Given the description of an element on the screen output the (x, y) to click on. 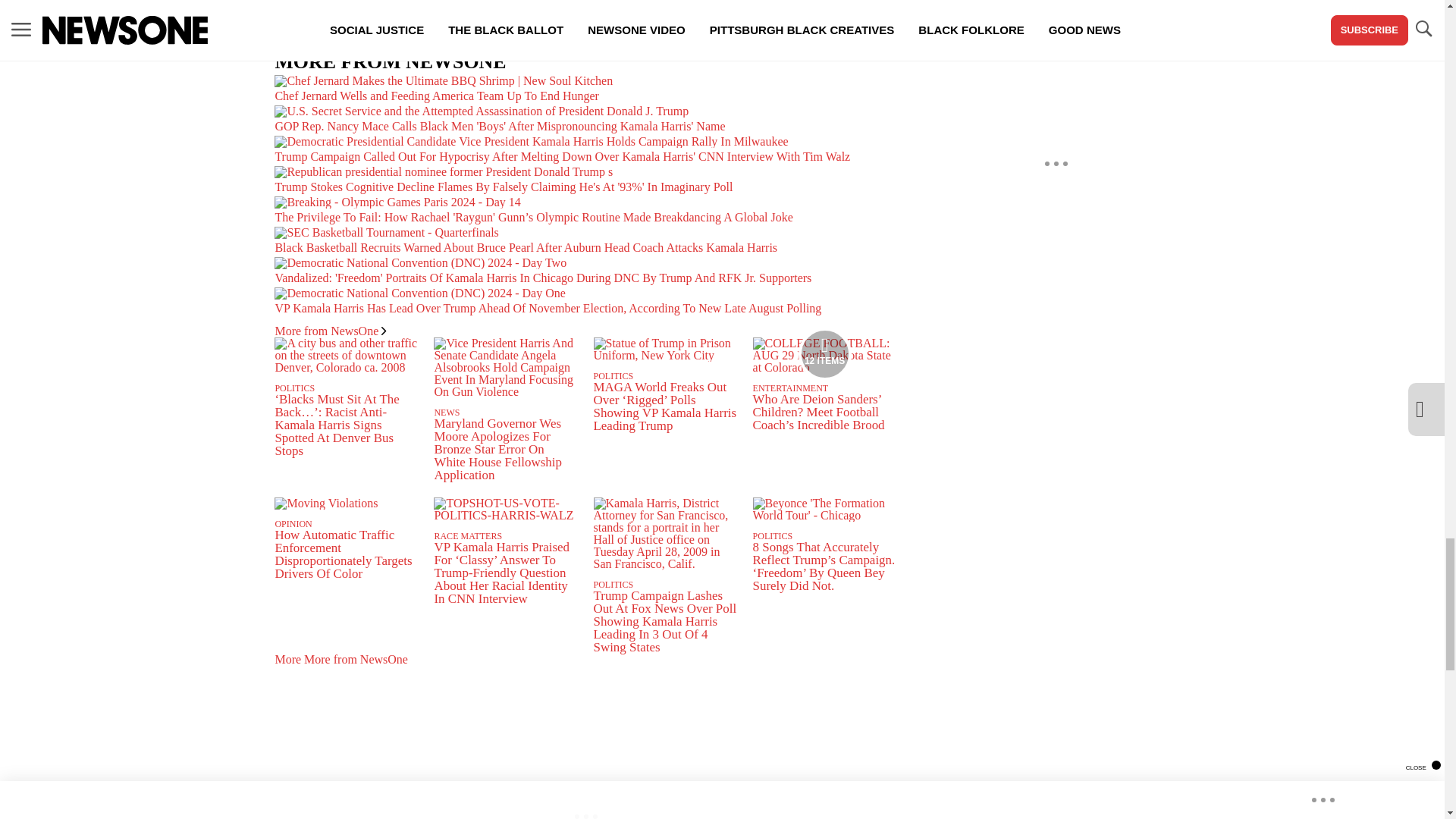
Media Playlist (824, 353)
Chef Jernard Wells and Feeding America Team Up To End Hunger (585, 90)
